Given the description of an element on the screen output the (x, y) to click on. 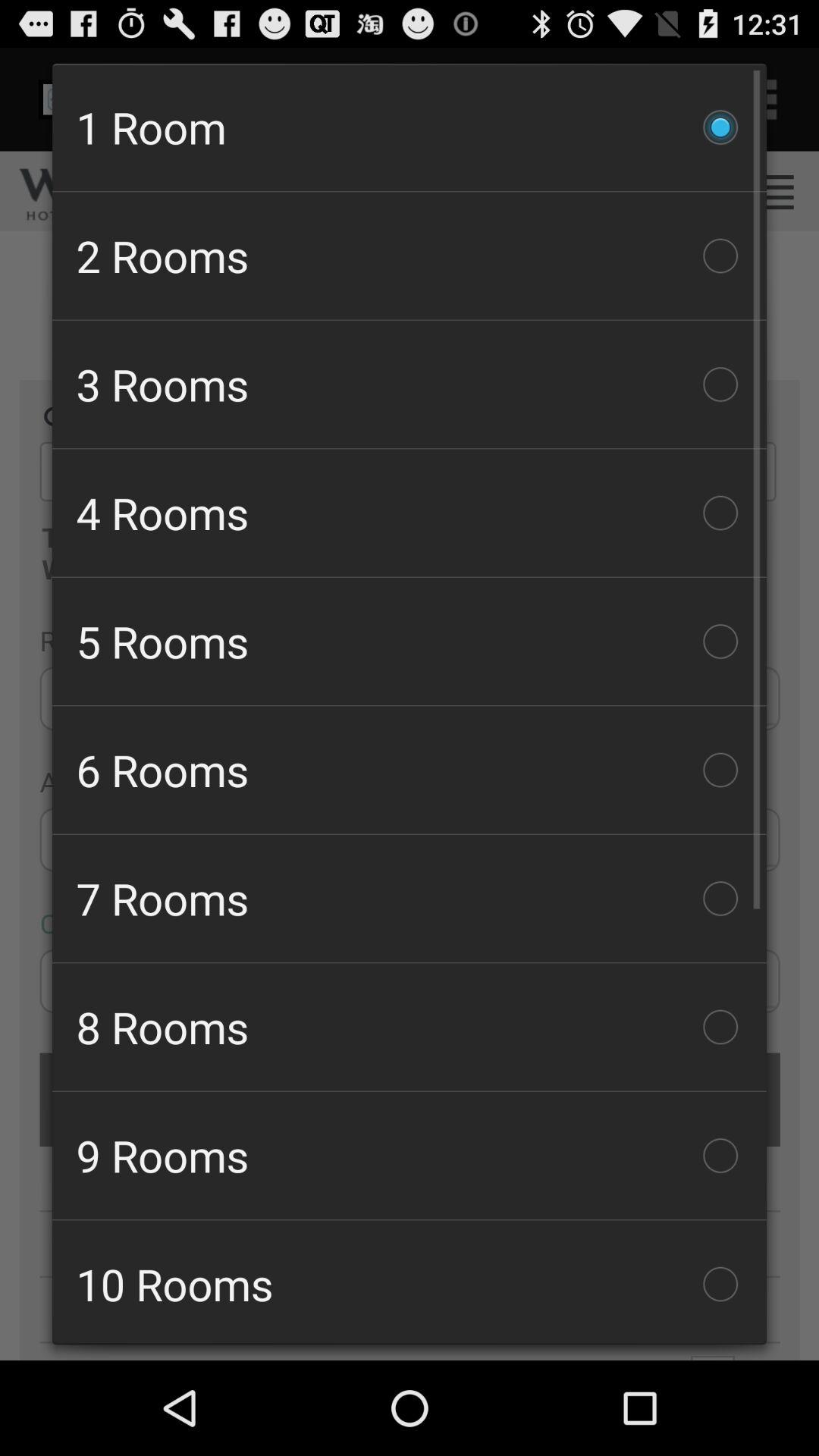
scroll to 3 rooms (409, 384)
